Given the description of an element on the screen output the (x, y) to click on. 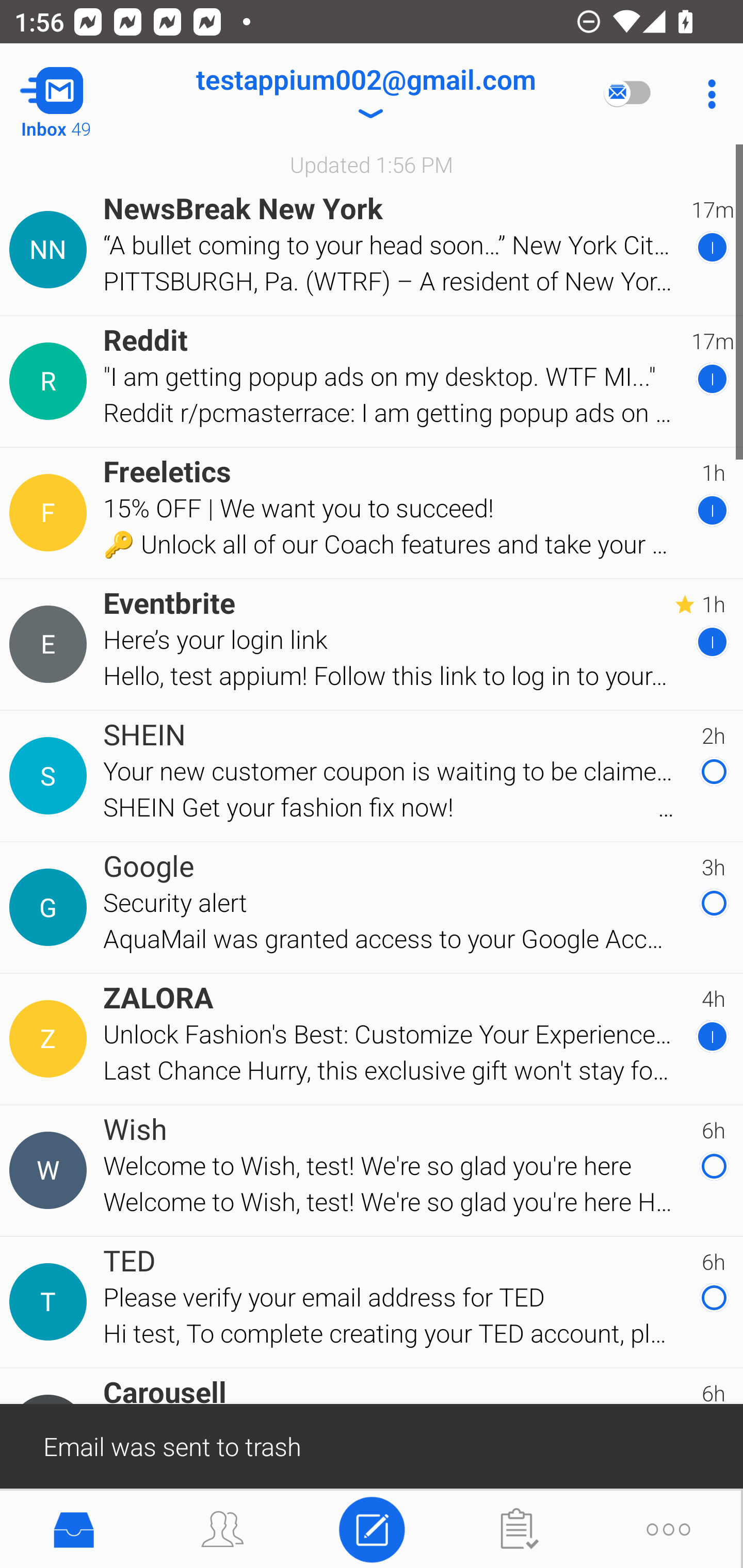
Navigate up (81, 93)
testappium002@gmail.com (365, 93)
More Options (706, 93)
Updated 1:56 PM (371, 164)
Contact Details (50, 250)
Contact Details (50, 381)
Contact Details (50, 513)
Contact Details (50, 644)
Contact Details (50, 776)
Contact Details (50, 907)
Contact Details (50, 1038)
Contact Details (50, 1170)
Contact Details (50, 1302)
Email was sent to trash (371, 1445)
Compose (371, 1528)
